Given the description of an element on the screen output the (x, y) to click on. 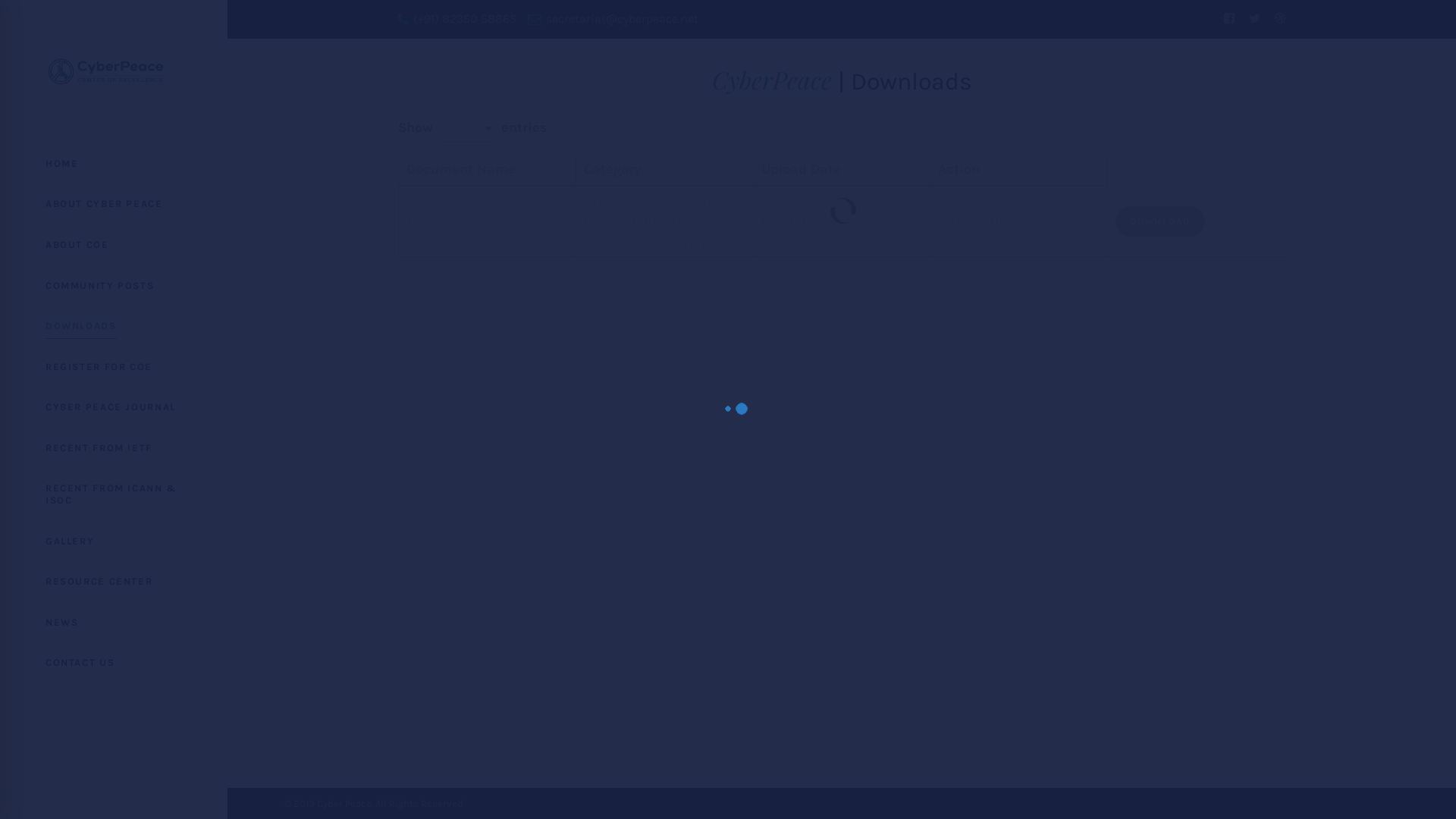
COMMUNITY POSTS Element type: text (113, 285)
CYBER PEACE JOURNAL Element type: text (113, 406)
RESOURCE CENTER Element type: text (113, 581)
10
  Element type: text (466, 128)
GALLERY Element type: text (113, 540)
secretariat@cyberpeace.net Element type: text (612, 19)
ABOUT CYBER PEACE Element type: text (113, 203)
HOME Element type: text (113, 163)
REGISTER FOR COE Element type: text (113, 366)
RECENT FROM ICANN & ISOC Element type: text (113, 493)
CONTACT US Element type: text (113, 662)
DOWNLOAD Element type: text (1159, 219)
ABOUT COE Element type: text (113, 244)
RECENT FROM IETF Element type: text (113, 447)
NEWS Element type: text (113, 622)
DOWNLOAD Element type: text (1159, 221)
DOWNLOADS Element type: text (113, 325)
